Given the description of an element on the screen output the (x, y) to click on. 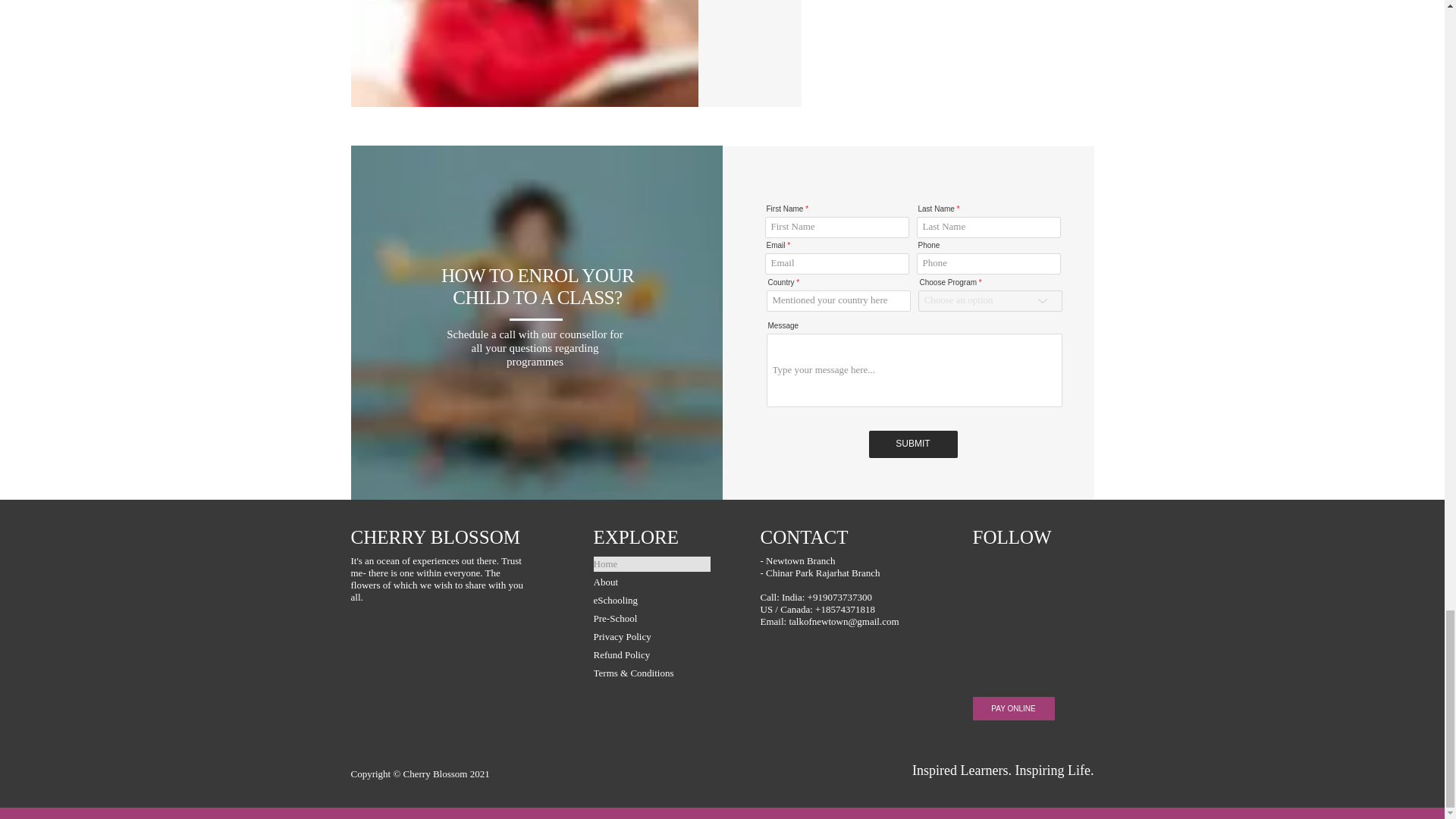
Home (651, 563)
Pre-School (651, 618)
eSchooling (651, 600)
Privacy Policy (651, 636)
SUBMIT (913, 443)
About (651, 581)
Refund Policy (651, 654)
